Given the description of an element on the screen output the (x, y) to click on. 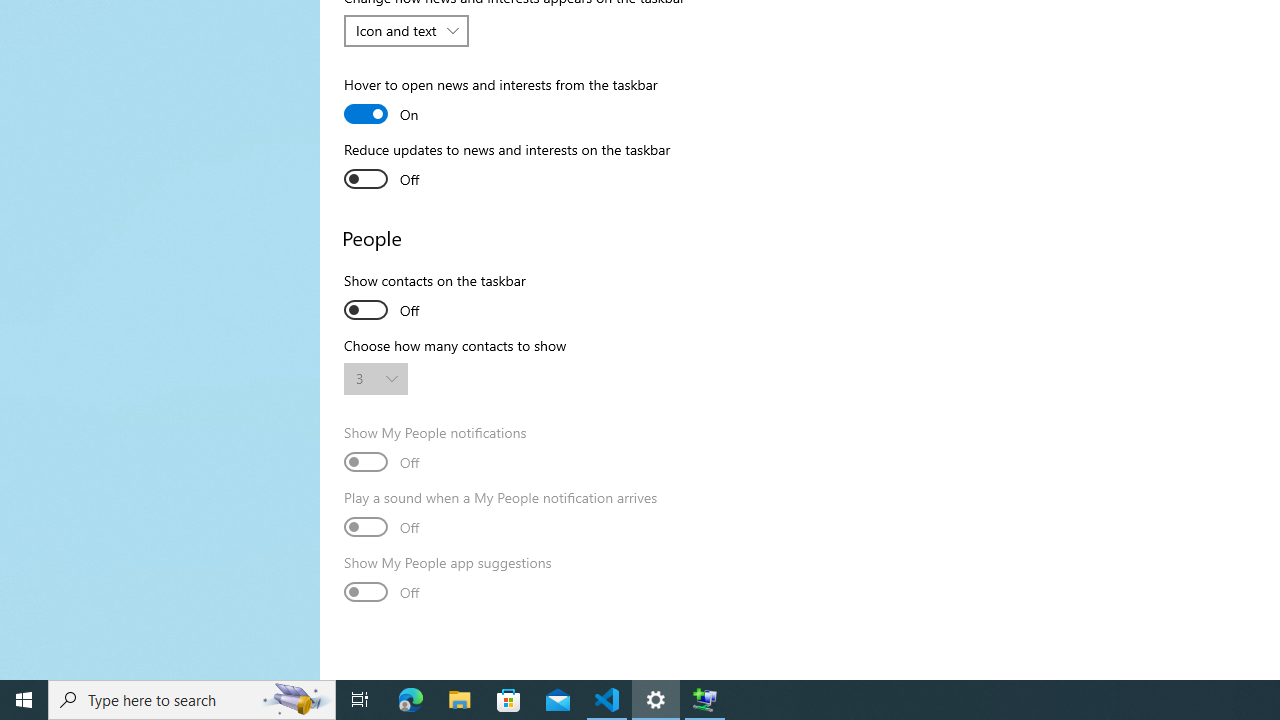
Show My People app suggestions (447, 579)
Change how news and interests appears on the taskbar (406, 30)
Reduce updates to news and interests on the taskbar (507, 167)
3 (365, 378)
Play a sound when a My People notification arrives (500, 515)
Extensible Wizards Host Process - 1 running window (704, 699)
